Given the description of an element on the screen output the (x, y) to click on. 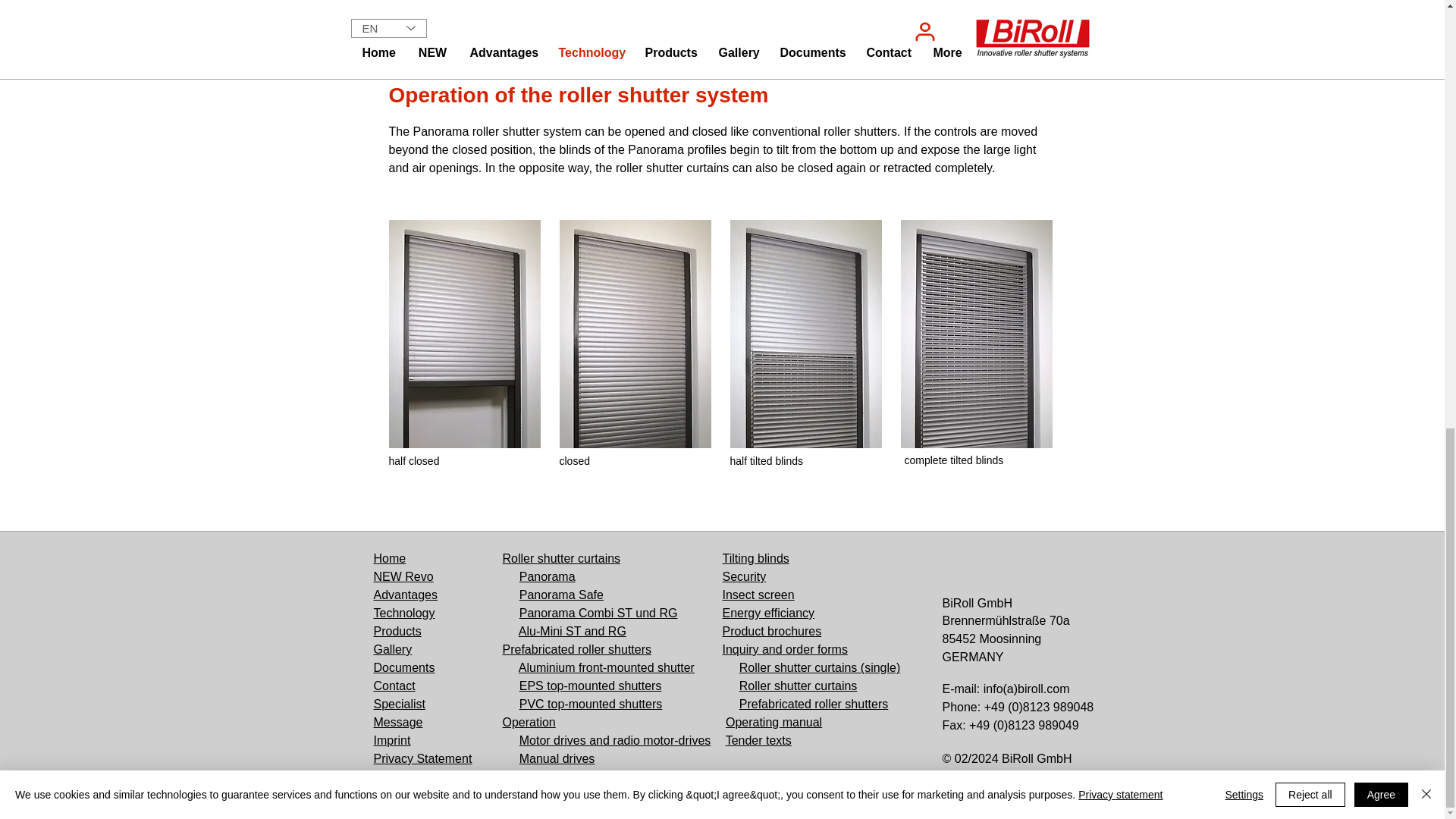
Home (389, 558)
Roller shutter curtains (561, 558)
Gallery (392, 649)
NEW Revo (402, 576)
Alu-Mini ST and RG (572, 631)
Advantages (405, 594)
Panorama (547, 576)
Aluminium front-mounted shutter (606, 667)
Products (396, 631)
EPS (533, 685)
Technology (402, 612)
